Given the description of an element on the screen output the (x, y) to click on. 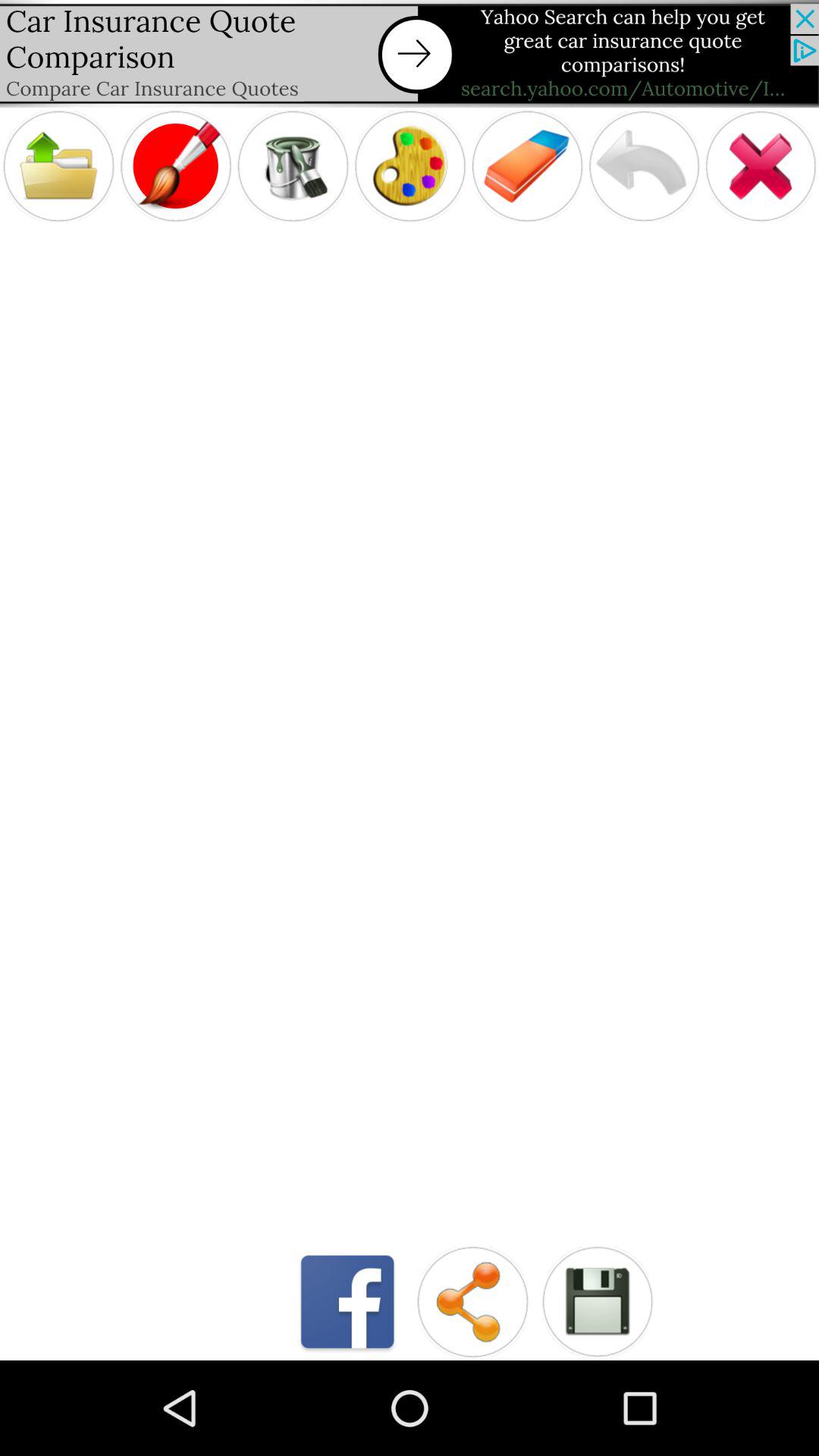
close app (760, 165)
